Given the description of an element on the screen output the (x, y) to click on. 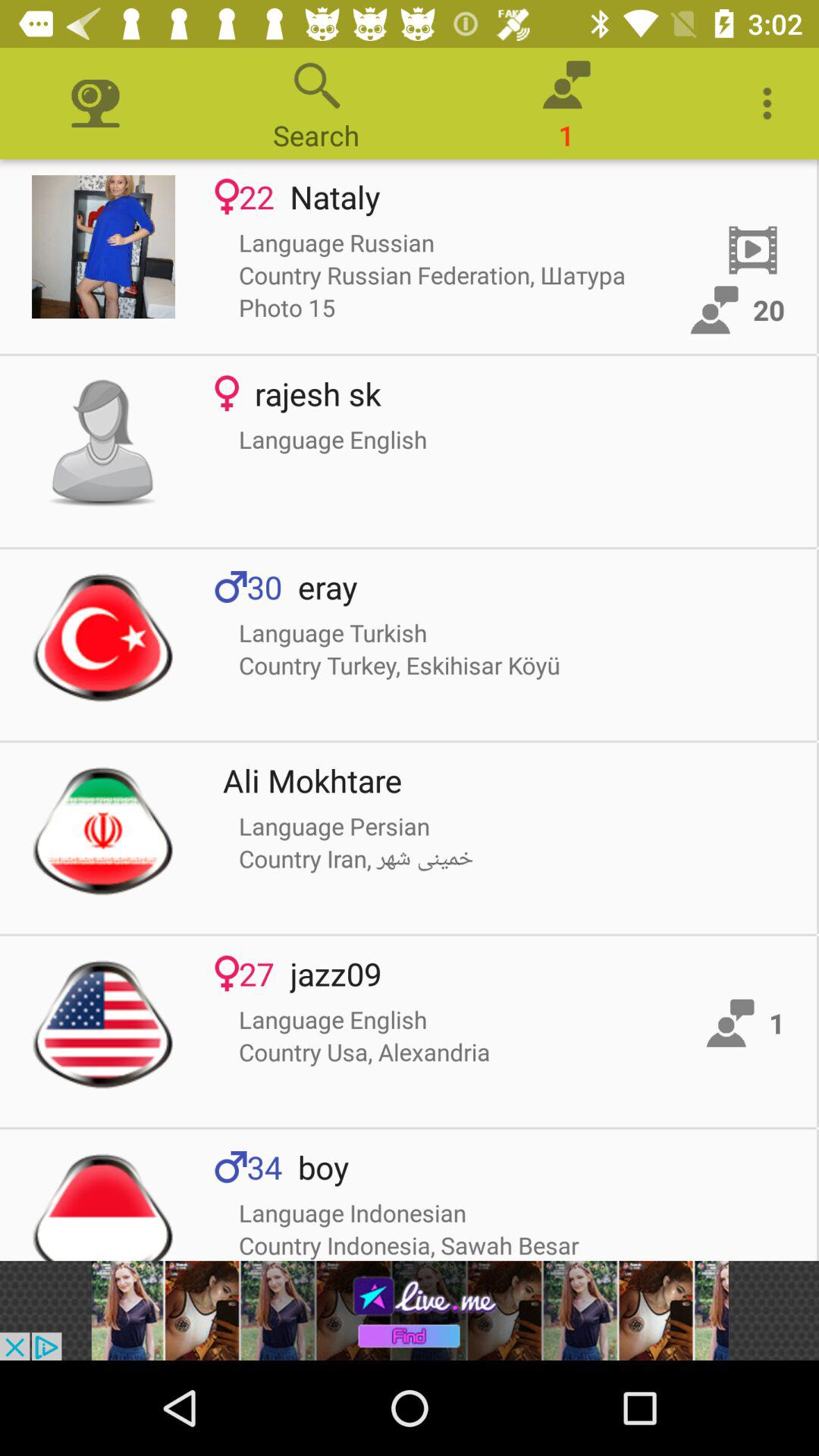
advertisement option (409, 1310)
